Given the description of an element on the screen output the (x, y) to click on. 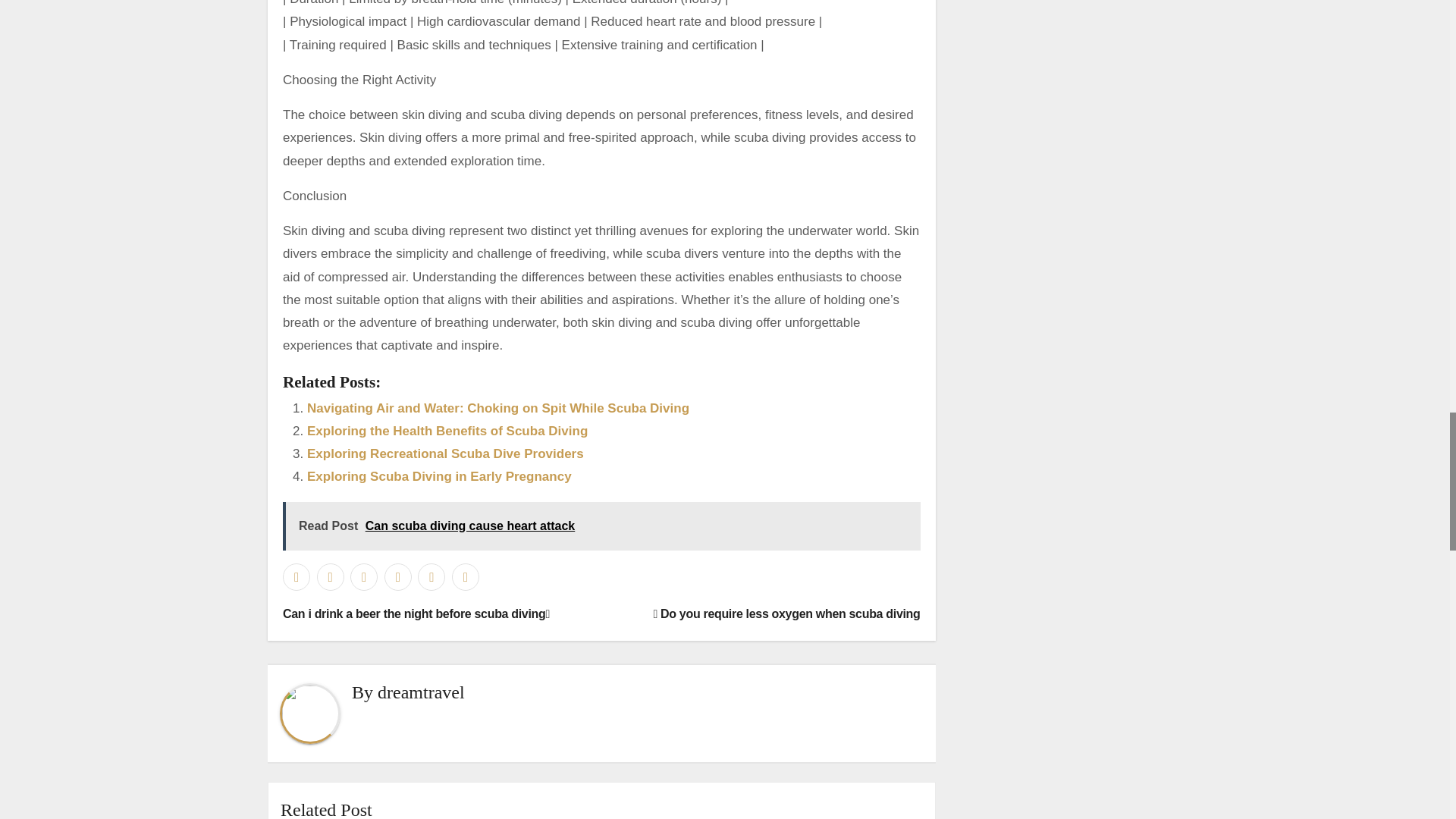
Do you require less oxygen when scuba diving (786, 613)
Exploring the Health Benefits of Scuba Diving (447, 431)
Exploring Recreational Scuba Dive Providers (445, 453)
Can i drink a beer the night before scuba diving (416, 613)
Exploring Scuba Diving in Early Pregnancy (439, 476)
Navigating Air and Water: Choking on Spit While Scuba Diving (497, 407)
Read Post  Can scuba diving cause heart attack (601, 526)
